Given the description of an element on the screen output the (x, y) to click on. 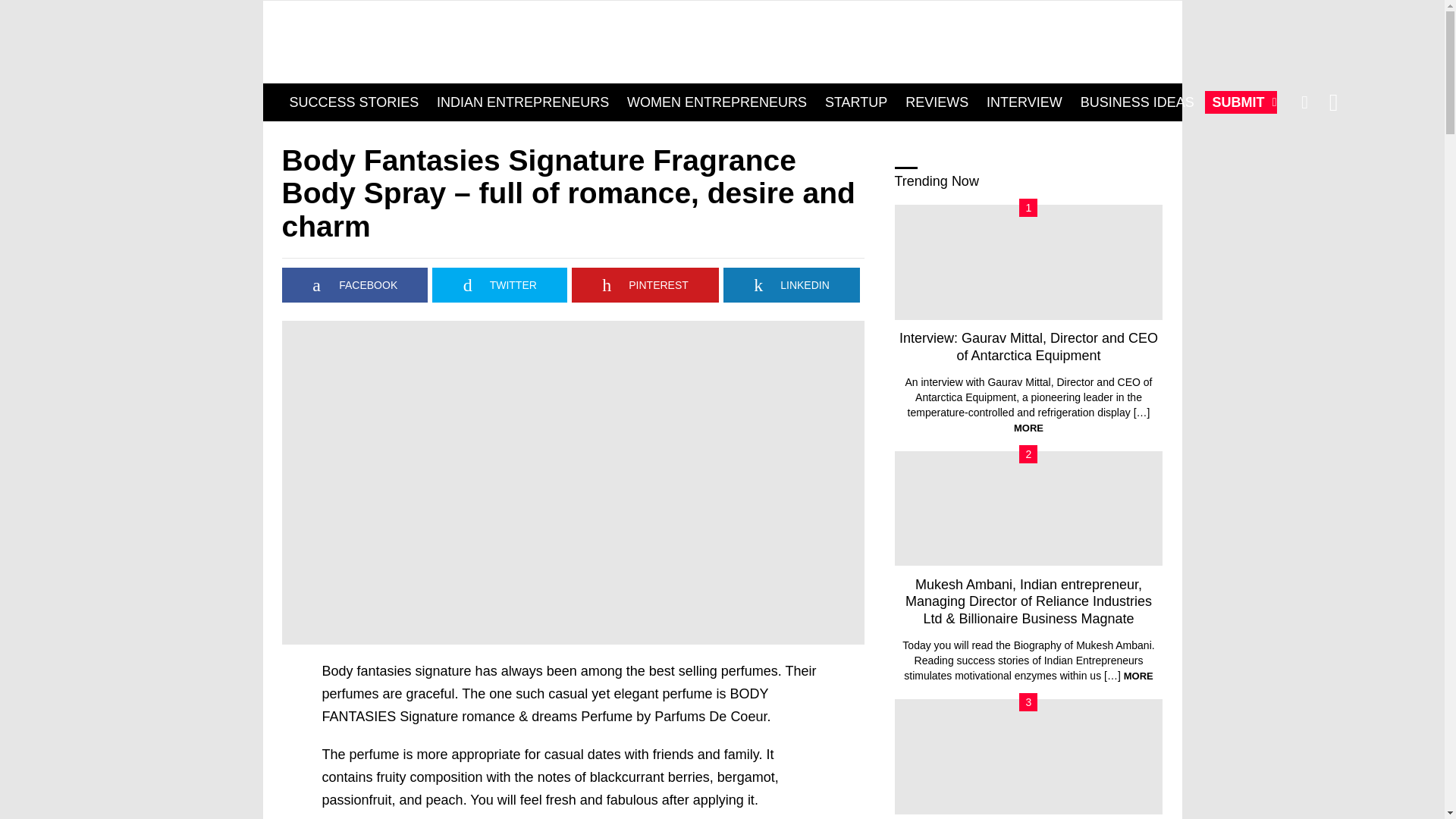
SUBMIT (1240, 101)
BUSINESS IDEAS (1137, 101)
SUCCESS STORIES (354, 101)
REVIEWS (936, 101)
WOMEN ENTREPRENEURS (716, 101)
TWITTER (499, 284)
LINKEDIN (791, 284)
PINTEREST (645, 284)
FACEBOOK (355, 284)
STARTUP (855, 101)
INDIAN ENTREPRENEURS (522, 101)
INTERVIEW (1024, 101)
